Given the description of an element on the screen output the (x, y) to click on. 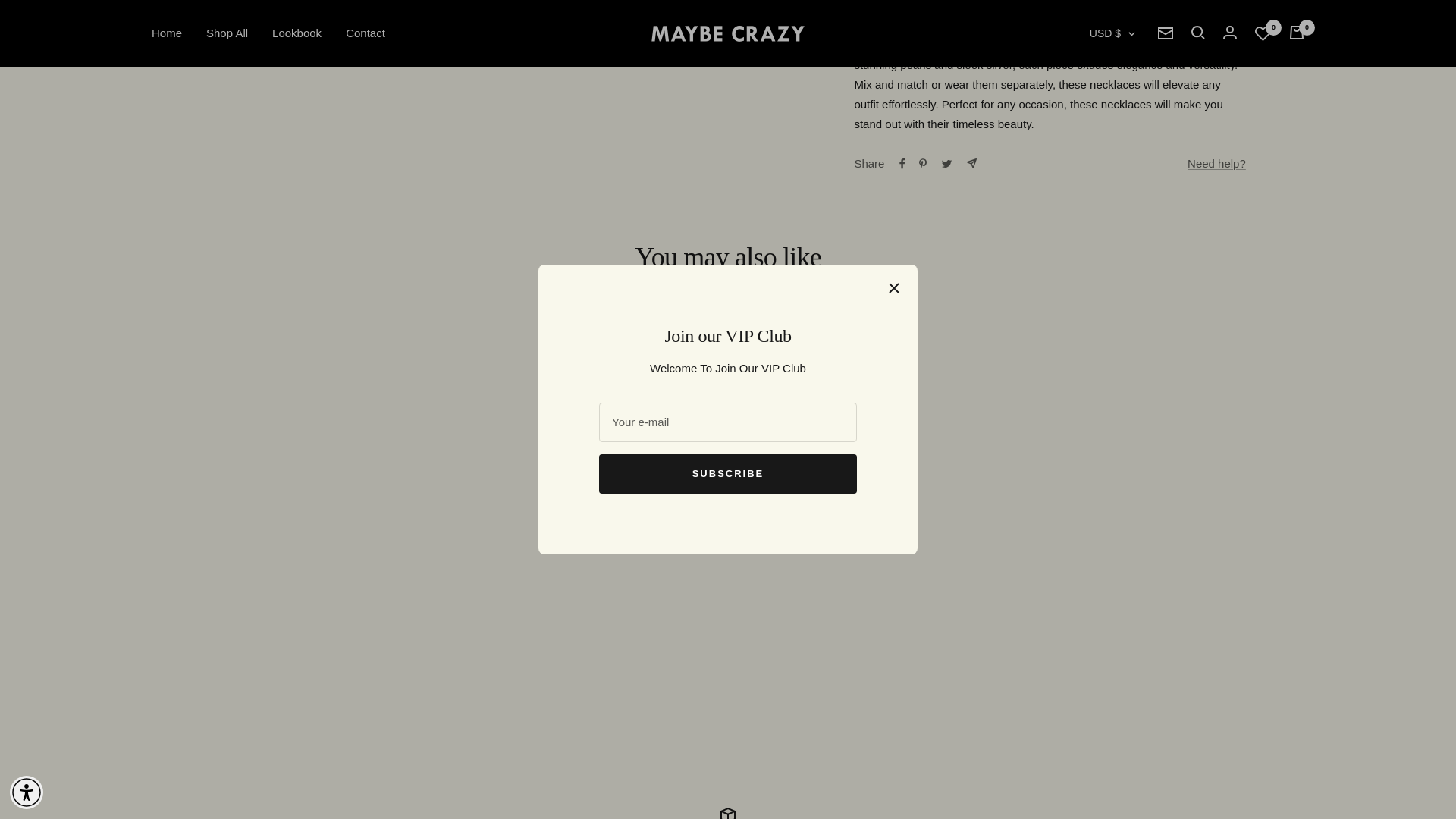
FJD (1096, 35)
EUR (1096, 9)
